Given the description of an element on the screen output the (x, y) to click on. 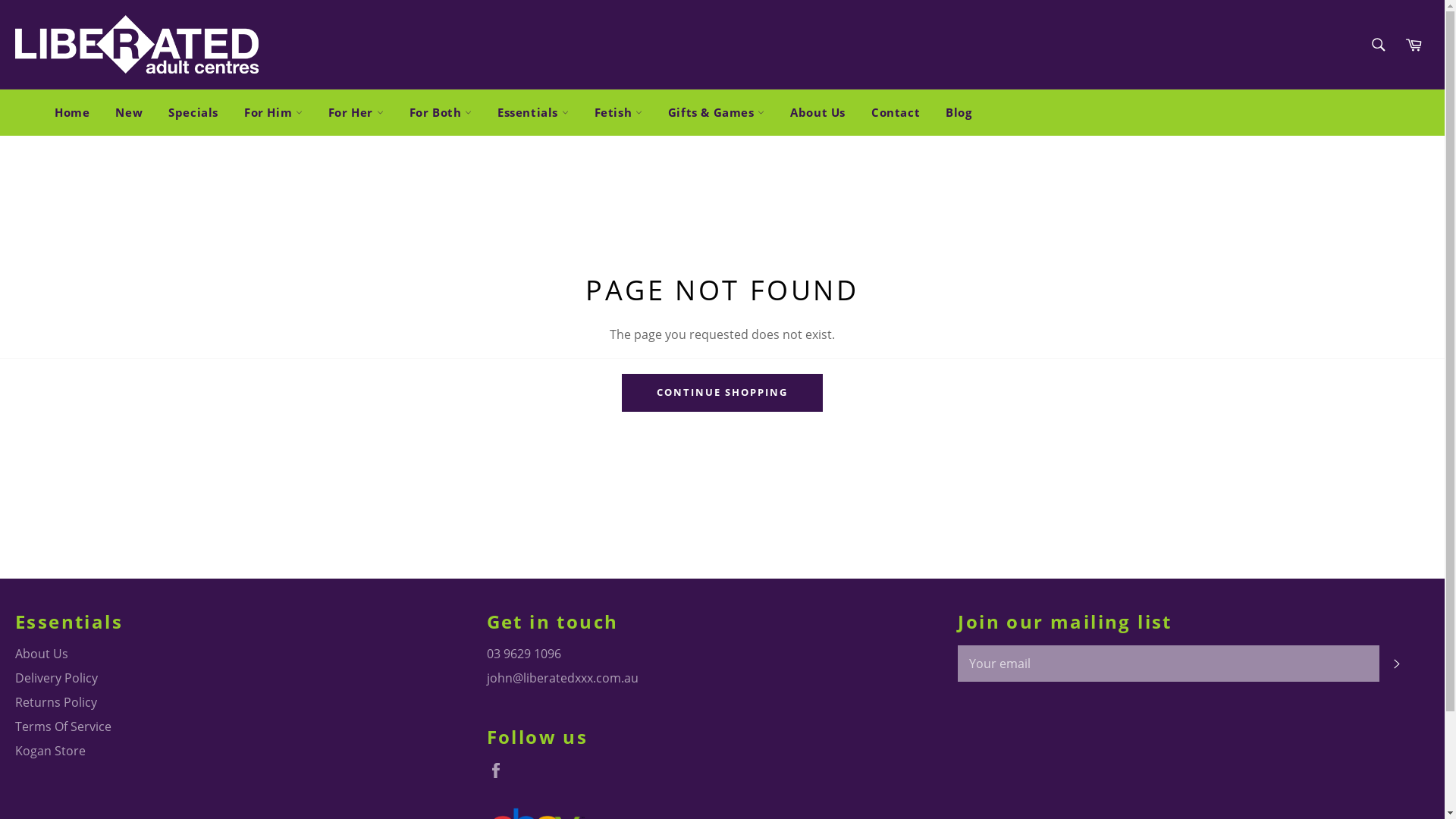
Search Element type: text (1377, 44)
Specials Element type: text (192, 112)
New Element type: text (128, 112)
For Both Element type: text (440, 112)
Contact Element type: text (895, 112)
About Us Element type: text (817, 112)
Add to cart Element type: text (1005, 249)
Add to cart Element type: text (439, 249)
Returns Policy Element type: text (56, 701)
For Him Element type: text (272, 112)
Blog Element type: text (958, 112)
Kogan Store Element type: text (50, 750)
Delivery Policy Element type: text (56, 677)
Terms Of Service Element type: text (63, 726)
Home Element type: text (71, 112)
Essentials Element type: text (533, 112)
Add to cart Element type: text (722, 249)
Fetish Element type: text (618, 112)
CONTINUE SHOPPING Element type: text (721, 392)
For Her Element type: text (355, 112)
john@liberatedxxx.com.au Element type: text (562, 677)
About Us Element type: text (41, 653)
Add to cart Element type: text (1287, 249)
SUBSCRIBE Element type: text (1396, 663)
Gifts & Games Element type: text (715, 112)
Cart Element type: text (1413, 44)
Facebook Element type: text (499, 769)
